Given the description of an element on the screen output the (x, y) to click on. 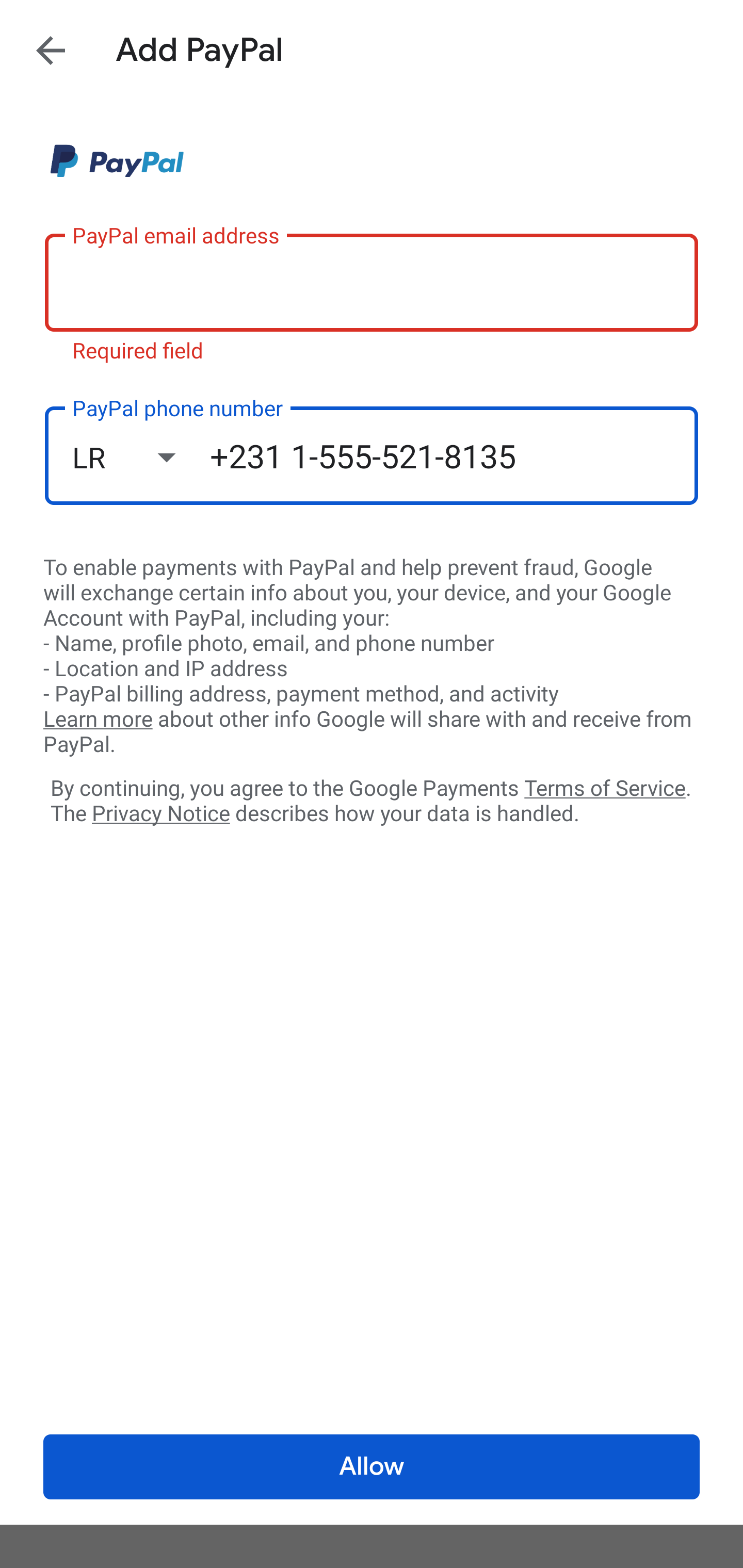
Navigate up (50, 50)
LR (141, 456)
Learn more (97, 719)
Terms of Service (604, 787)
Privacy Notice (160, 814)
Allow (371, 1466)
